Given the description of an element on the screen output the (x, y) to click on. 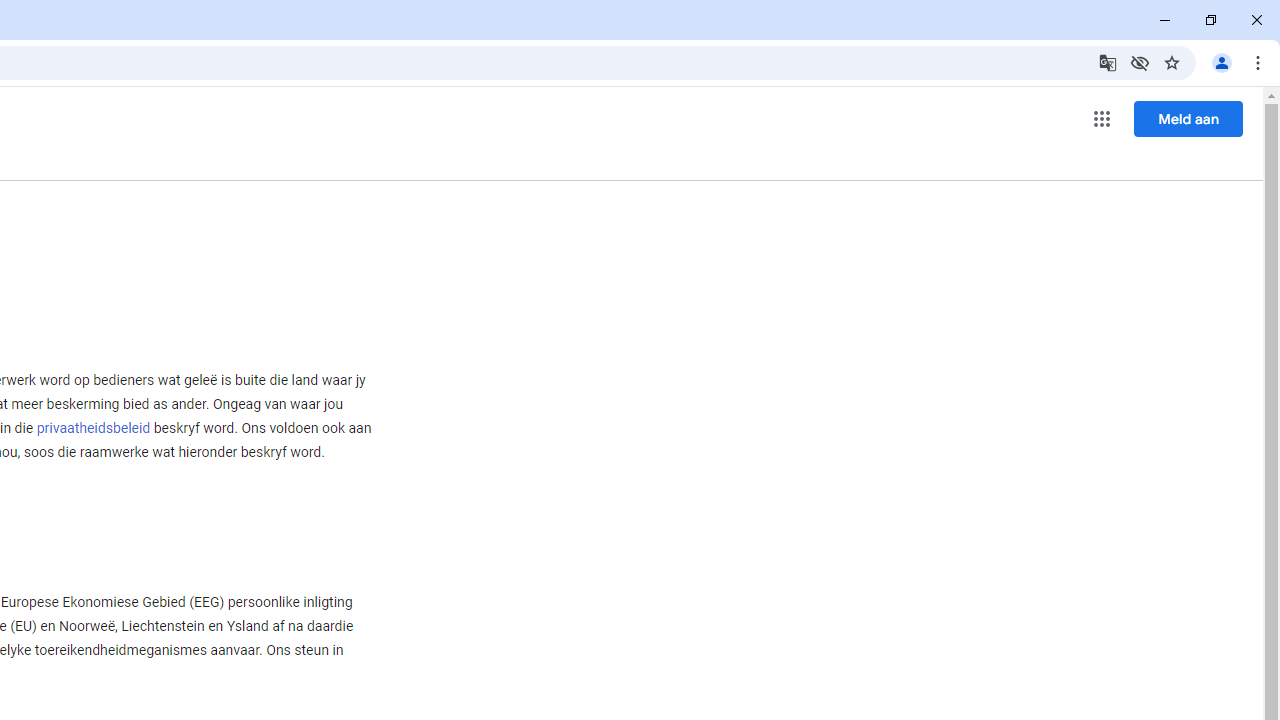
Translate this page (1107, 62)
Google-programme (1101, 118)
Meld aan (1188, 118)
privaatheidsbeleid (93, 428)
